Given the description of an element on the screen output the (x, y) to click on. 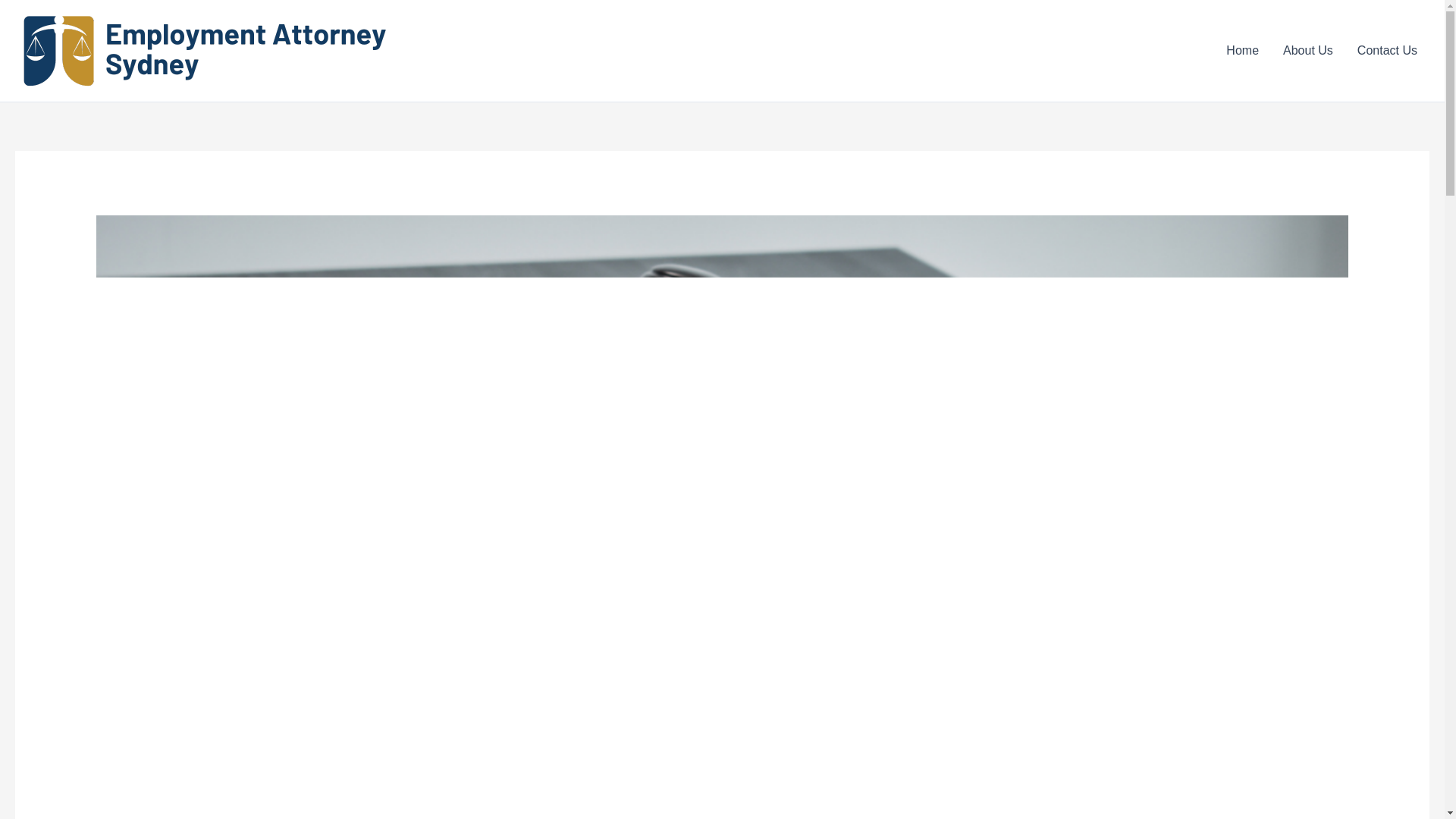
Home (1242, 50)
About Us (1308, 50)
Contact Us (1387, 50)
